Given the description of an element on the screen output the (x, y) to click on. 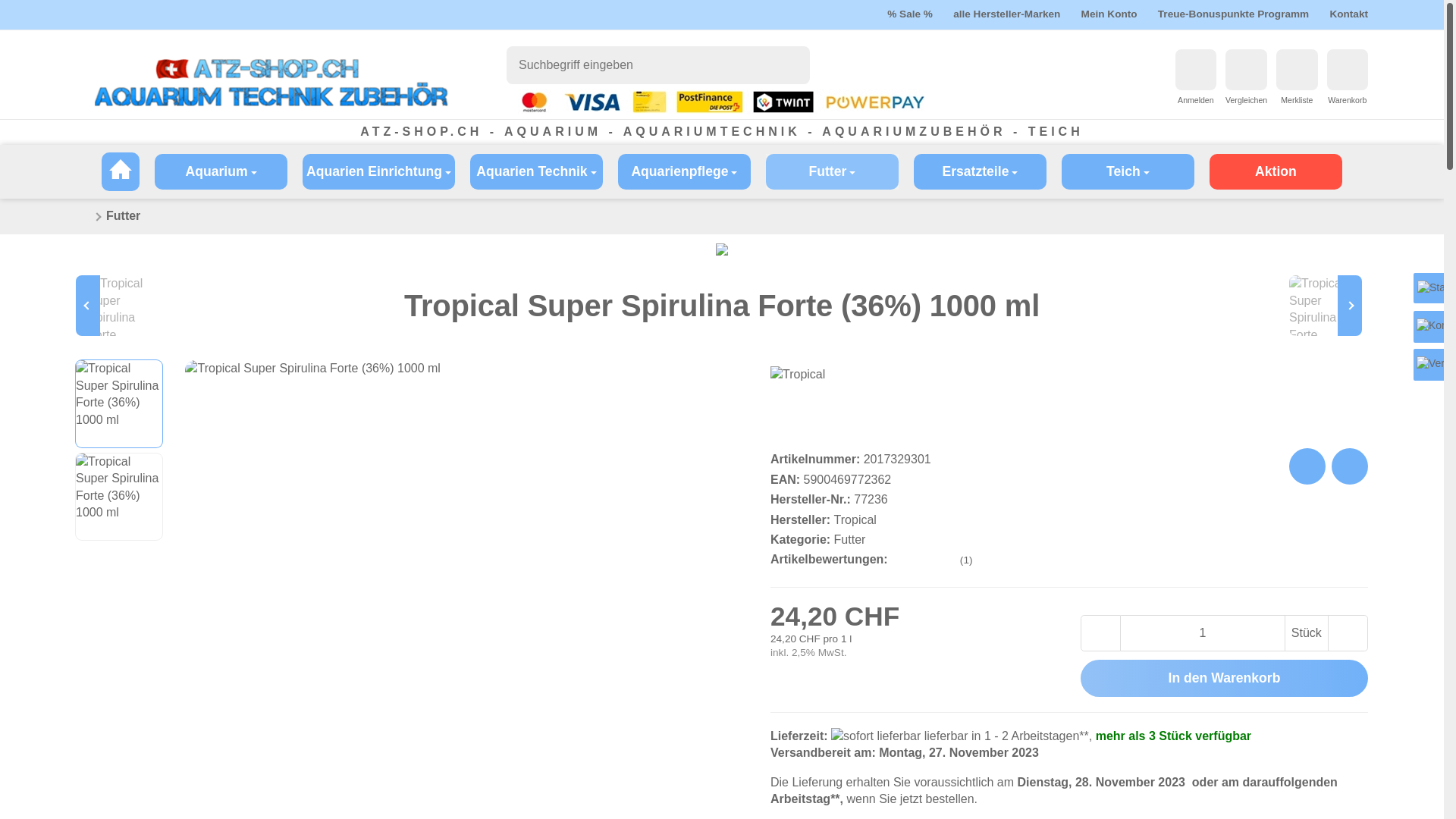
Kontakt Element type: text (1348, 13)
Teich Element type: text (1127, 171)
auf die Vergleichliste Element type: hover (1349, 466)
Mein Konto Element type: text (1109, 13)
atz-shop.ch Element type: hover (120, 171)
Aquarien Technik Element type: text (536, 171)
Merkliste Element type: text (1296, 100)
atz-shop.ch Element type: hover (271, 82)
Aquarium Element type: text (220, 171)
Futter Element type: text (123, 215)
Vergleichen Element type: text (1246, 100)
(1) Element type: text (933, 560)
auf die Merkliste Element type: hover (1307, 466)
Tropical Super Spirulina Forte (36%) 250 ml Element type: hover (120, 305)
Tropical Super Spirulina Forte (36%) 5 Liter Element type: hover (1322, 305)
Ersatzteile Element type: text (979, 171)
Vergleichsliste Element type: hover (1245, 69)
Futter Element type: text (850, 539)
Futter Element type: text (831, 171)
Zur Merkliste Element type: hover (1296, 69)
Warenkorb Element type: text (1347, 100)
Tropical Element type: hover (811, 404)
Aquarien Einrichtung Element type: text (378, 171)
Anmelden Element type: text (1195, 100)
% Sale % Element type: text (909, 13)
Startseite Element type: hover (81, 216)
Anmelden Element type: hover (1195, 69)
Aktion Element type: text (1275, 171)
Warenkorb Element type: hover (1347, 69)
alle Hersteller-Marken Element type: text (1006, 13)
In den Warenkorb Element type: text (1224, 677)
Treue-Bonuspunkte Programm Element type: text (1232, 13)
Aquarienpflege Element type: text (684, 171)
1 Element type: text (9, 8)
